Given the description of an element on the screen output the (x, y) to click on. 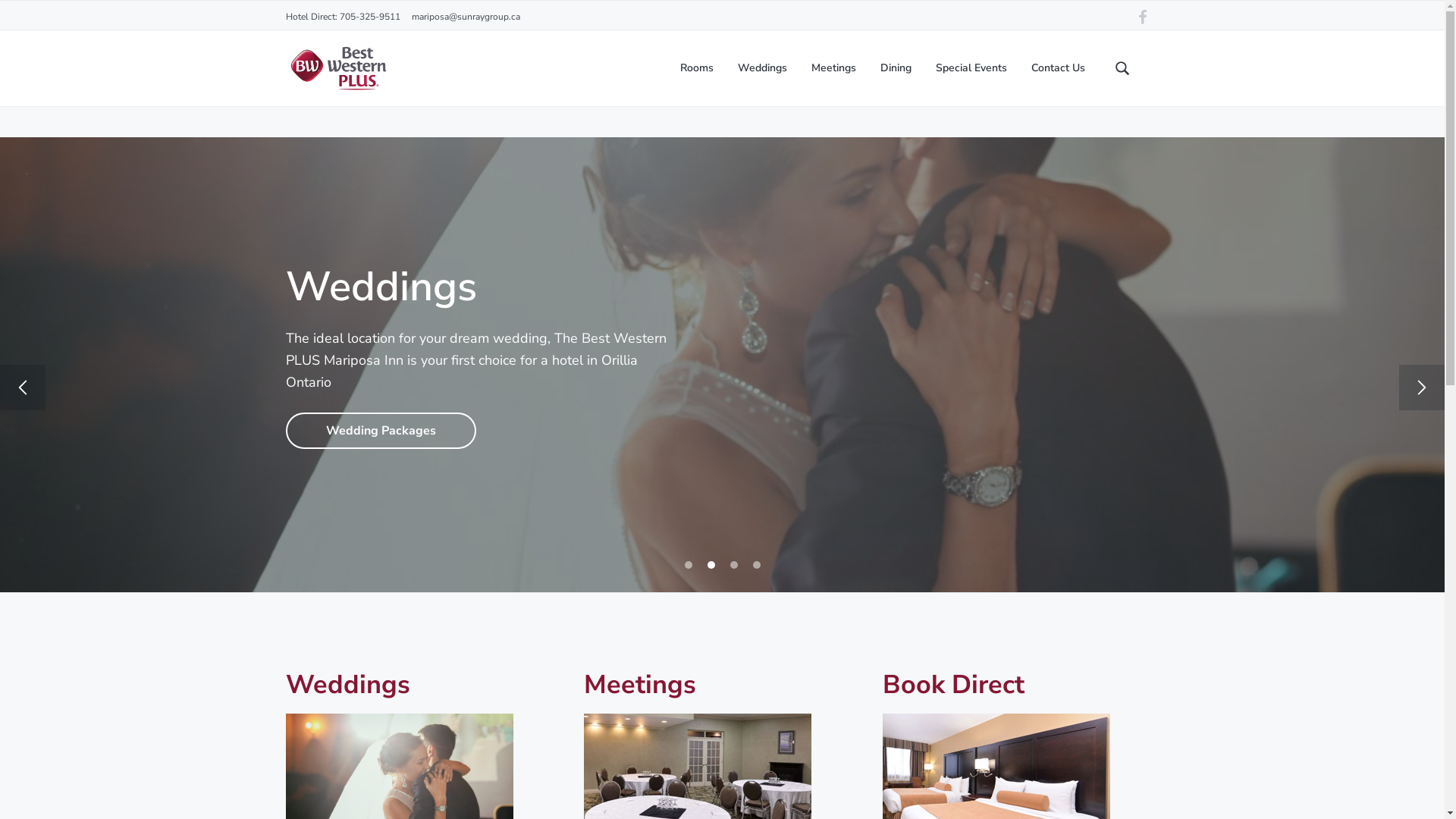
3 Element type: text (733, 564)
Special Events Element type: text (971, 68)
Meetings Element type: text (833, 68)
Next Element type: text (1421, 387)
Wedding Packages Element type: text (380, 430)
2 Element type: text (710, 564)
Rooms Element type: text (695, 68)
Weddings Element type: text (761, 68)
1 Element type: text (687, 564)
4 Element type: text (755, 564)
Best Western Plus Mariposa Element type: text (292, 249)
Dining Element type: text (894, 68)
Previous Element type: text (22, 387)
Search Element type: text (59, 18)
Skip to primary navigation Element type: text (0, 106)
Contact Us Element type: text (1058, 68)
